Given the description of an element on the screen output the (x, y) to click on. 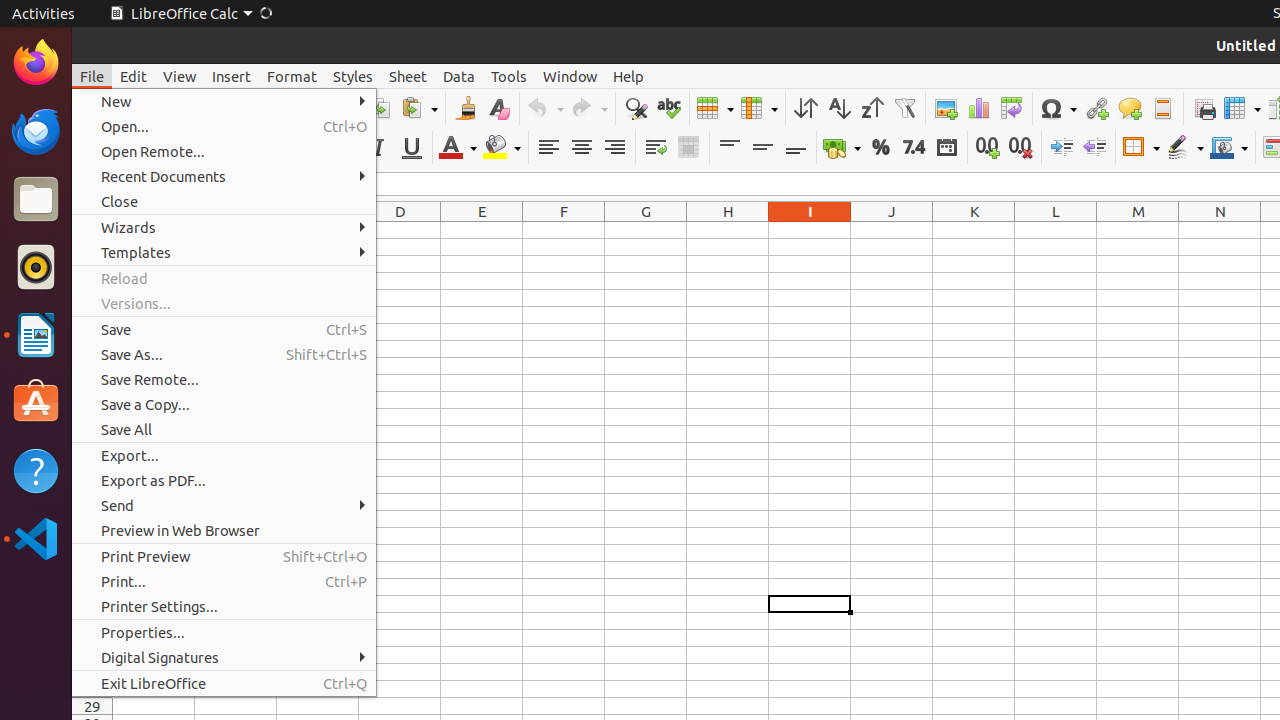
F1 Element type: table-cell (564, 230)
Headers and Footers Element type: push-button (1162, 108)
Find & Replace Element type: toggle-button (635, 108)
Save Remote... Element type: menu-item (224, 379)
Paste Element type: push-button (419, 108)
